Given the description of an element on the screen output the (x, y) to click on. 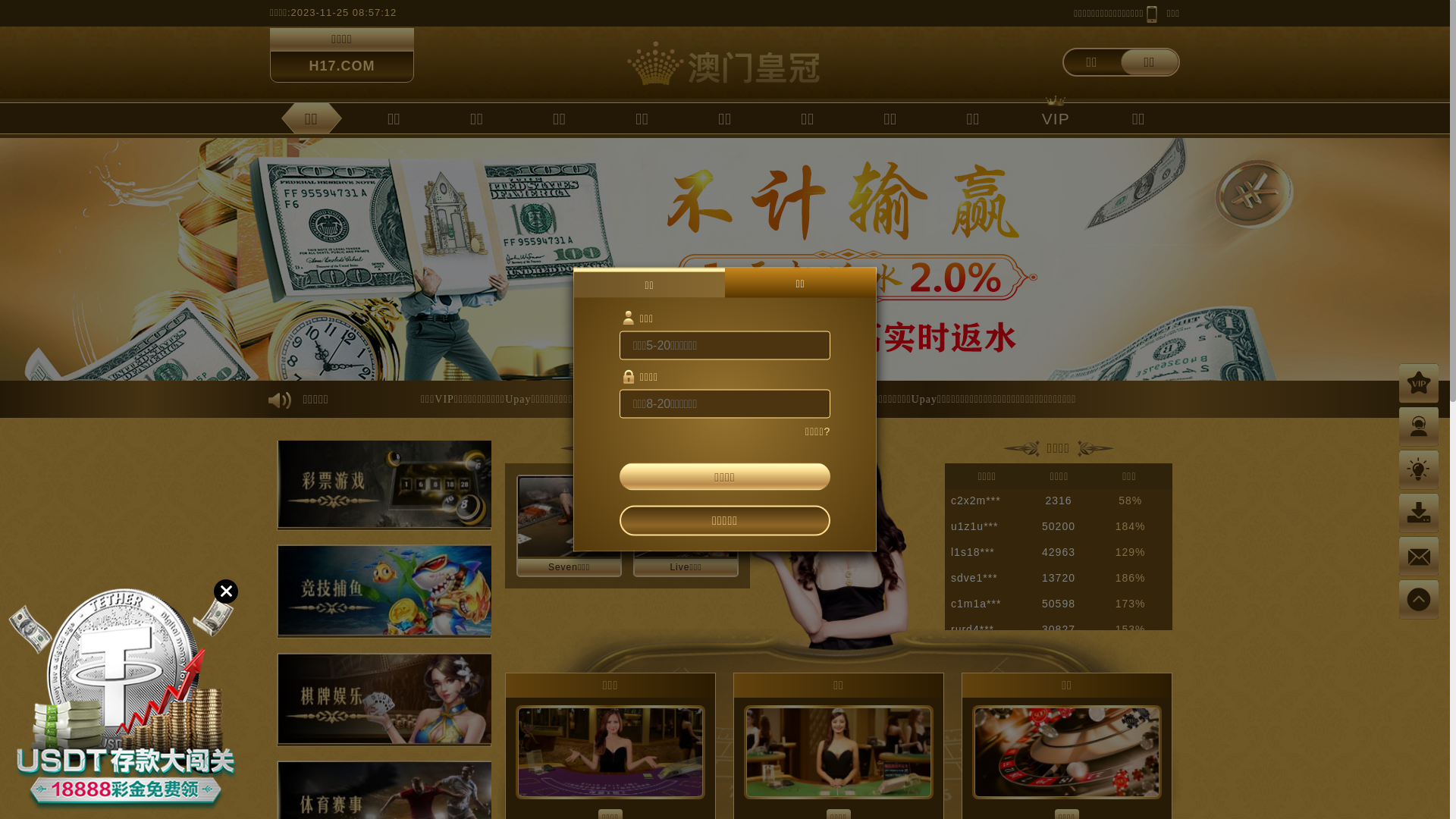
VIP Element type: text (1055, 118)
